Given the description of an element on the screen output the (x, y) to click on. 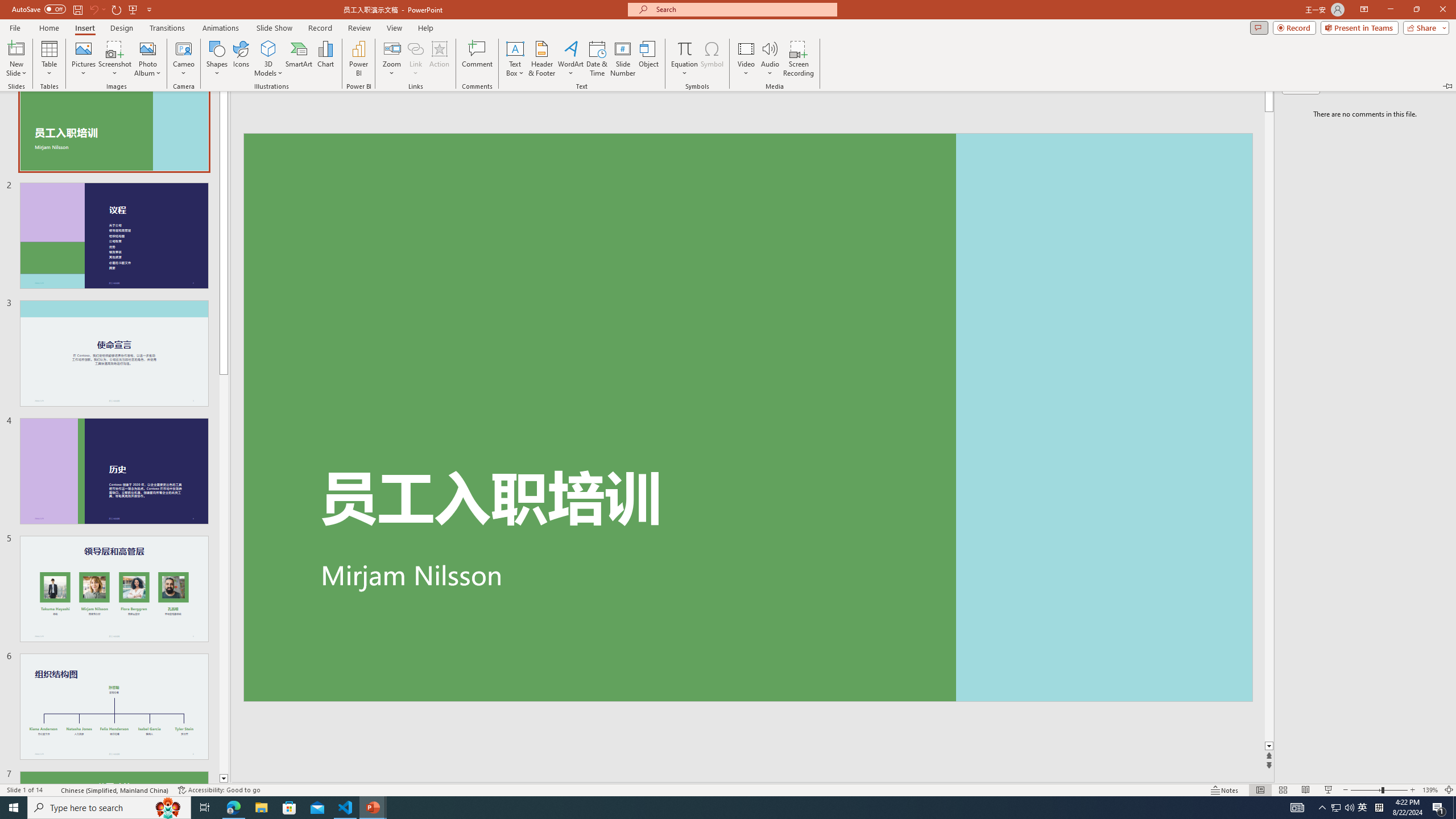
Running applications (707, 807)
Q2790: 100% (1349, 807)
Notification Chevron (1322, 807)
